Given the description of an element on the screen output the (x, y) to click on. 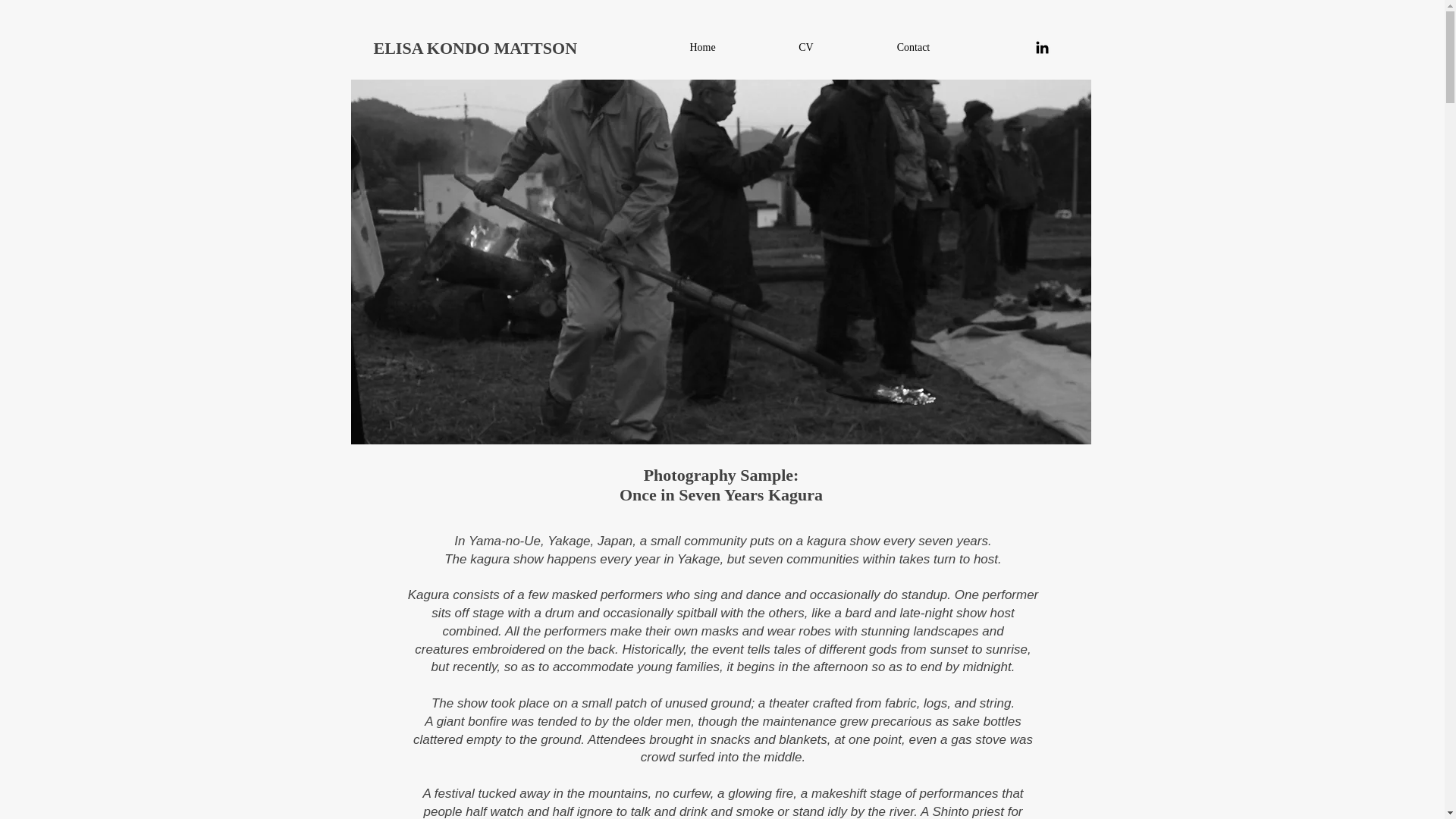
Home (702, 47)
CV (805, 47)
Contact (913, 47)
ELISA KONDO MATTSON (474, 47)
